Given the description of an element on the screen output the (x, y) to click on. 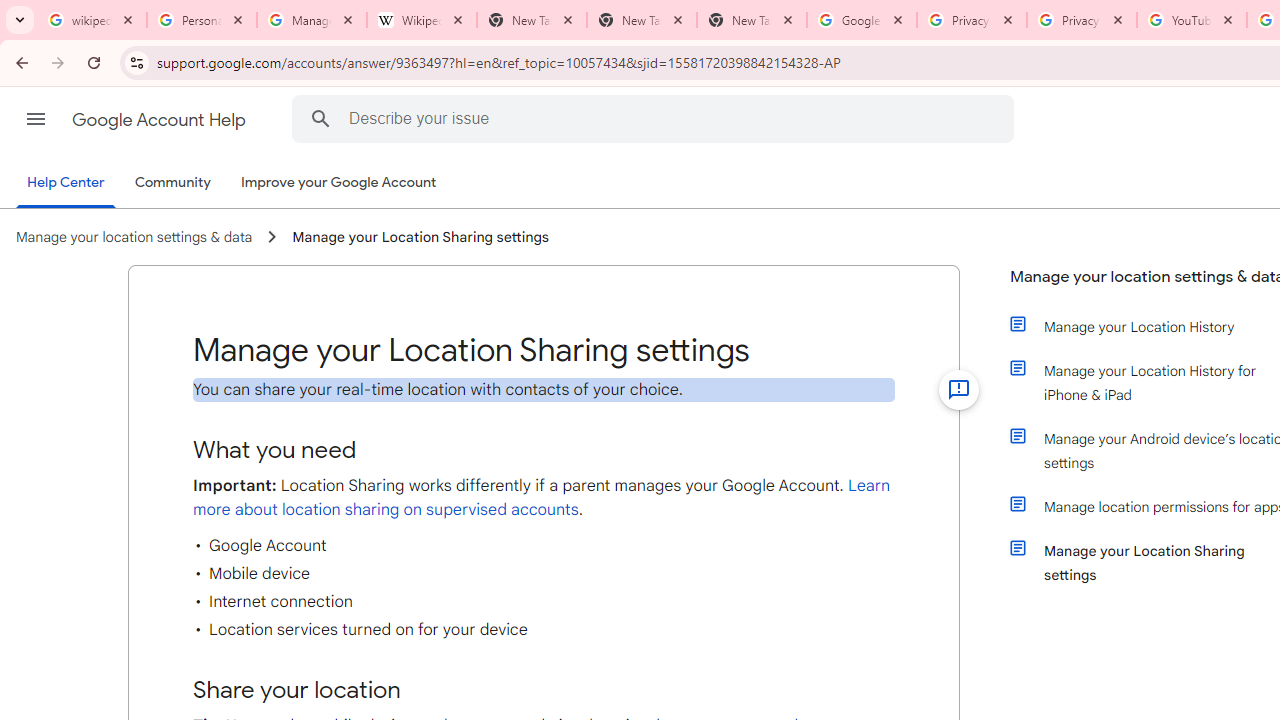
Manage your Location History - Google Search Help (312, 20)
Improve your Google Account (339, 183)
New Tab (752, 20)
Community (171, 183)
Personalization & Google Search results - Google Search Help (202, 20)
New Tab (642, 20)
